Given the description of an element on the screen output the (x, y) to click on. 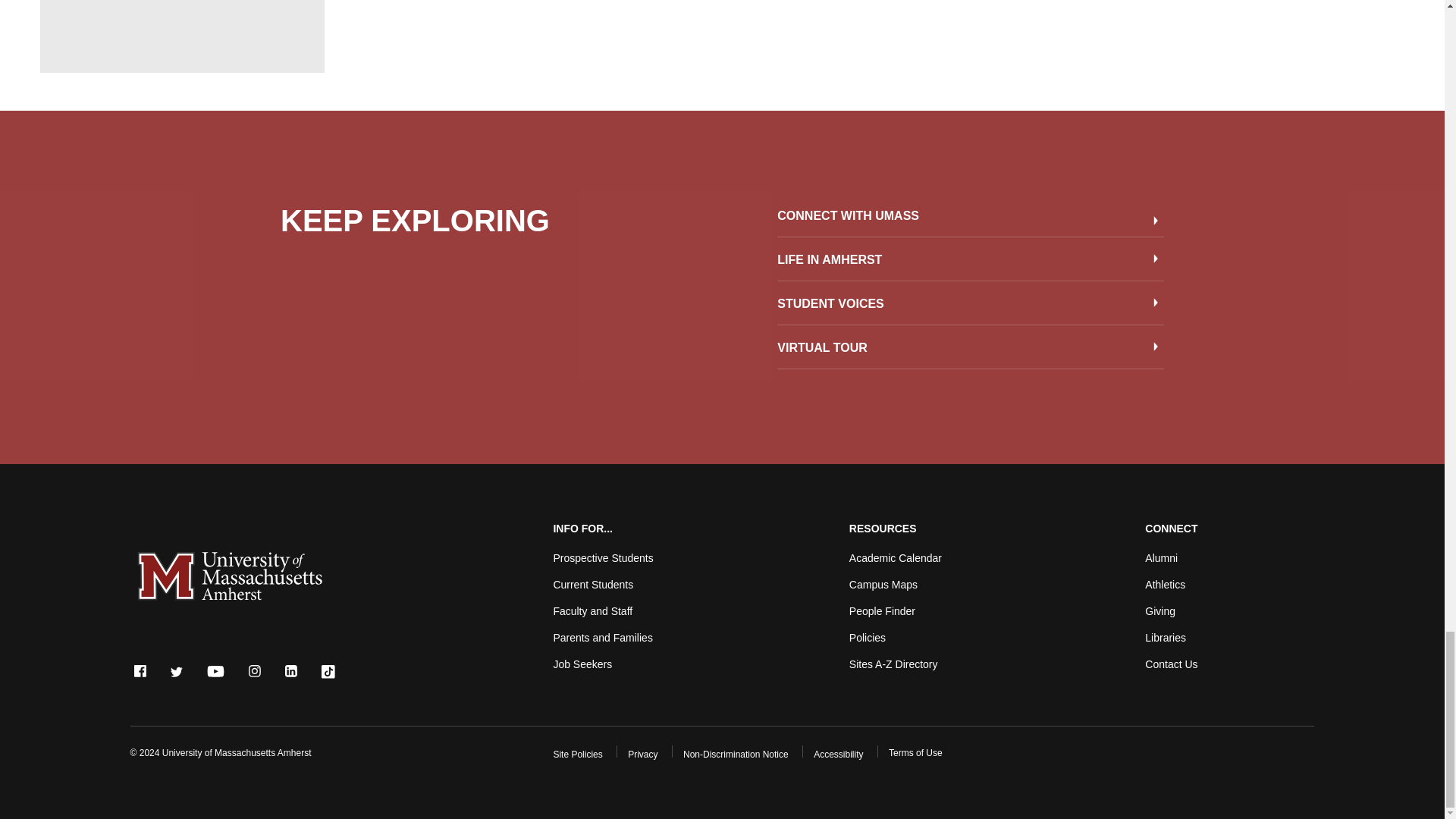
UMass Amherst Accessibility Resources (838, 754)
A-Z Directory (892, 664)
UMass Amherst non-discrimination policies (735, 754)
Click here for info for parents and families (602, 637)
Click here for info for current students (593, 584)
Info for Job Seekers (582, 664)
UMass Amherst privacy policy (642, 754)
Click here for info for faculty and staff (592, 611)
